Given the description of an element on the screen output the (x, y) to click on. 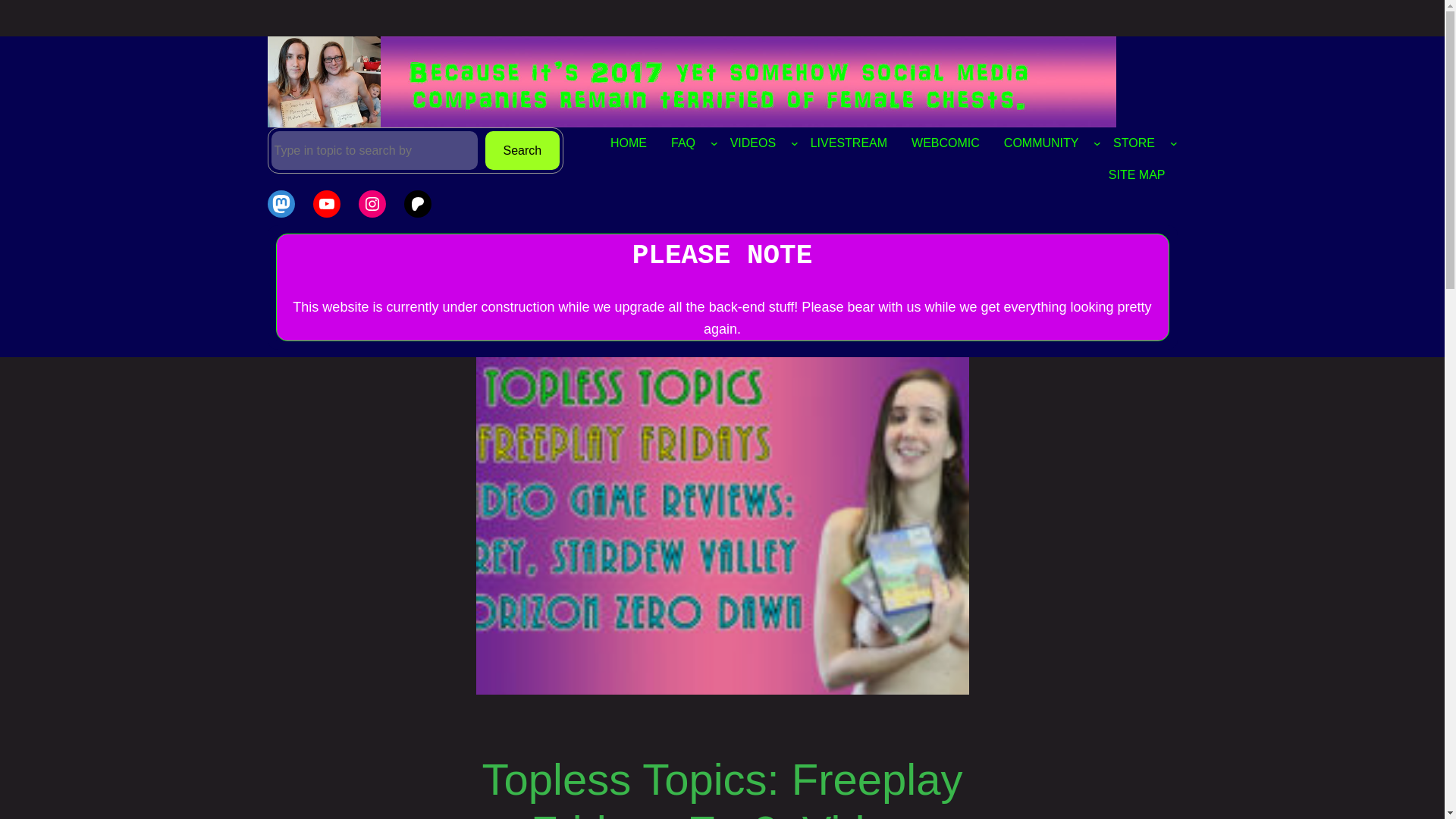
STORE (1133, 142)
COMMUNITY (1040, 142)
HOME (628, 142)
VIDEOS (752, 142)
WEBCOMIC (945, 142)
LIVESTREAM (848, 142)
FAQ (683, 142)
Search (521, 150)
